Given the description of an element on the screen output the (x, y) to click on. 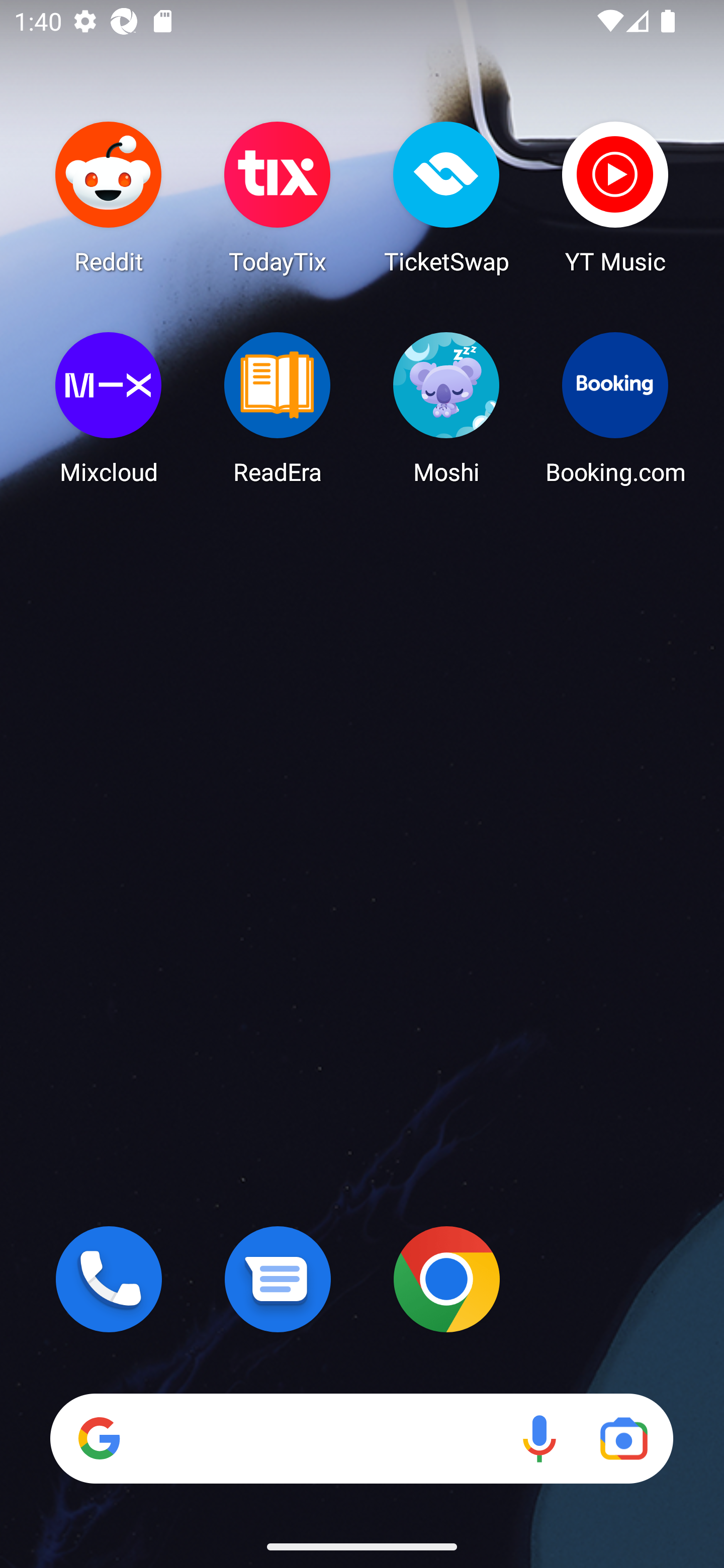
Reddit (108, 196)
TodayTix (277, 196)
TicketSwap (445, 196)
YT Music (615, 196)
Mixcloud (108, 407)
ReadEra (277, 407)
Moshi (445, 407)
Booking.com (615, 407)
Phone (108, 1279)
Messages (277, 1279)
Chrome (446, 1279)
Search Voice search Google Lens (361, 1438)
Voice search (539, 1438)
Google Lens (623, 1438)
